Given the description of an element on the screen output the (x, y) to click on. 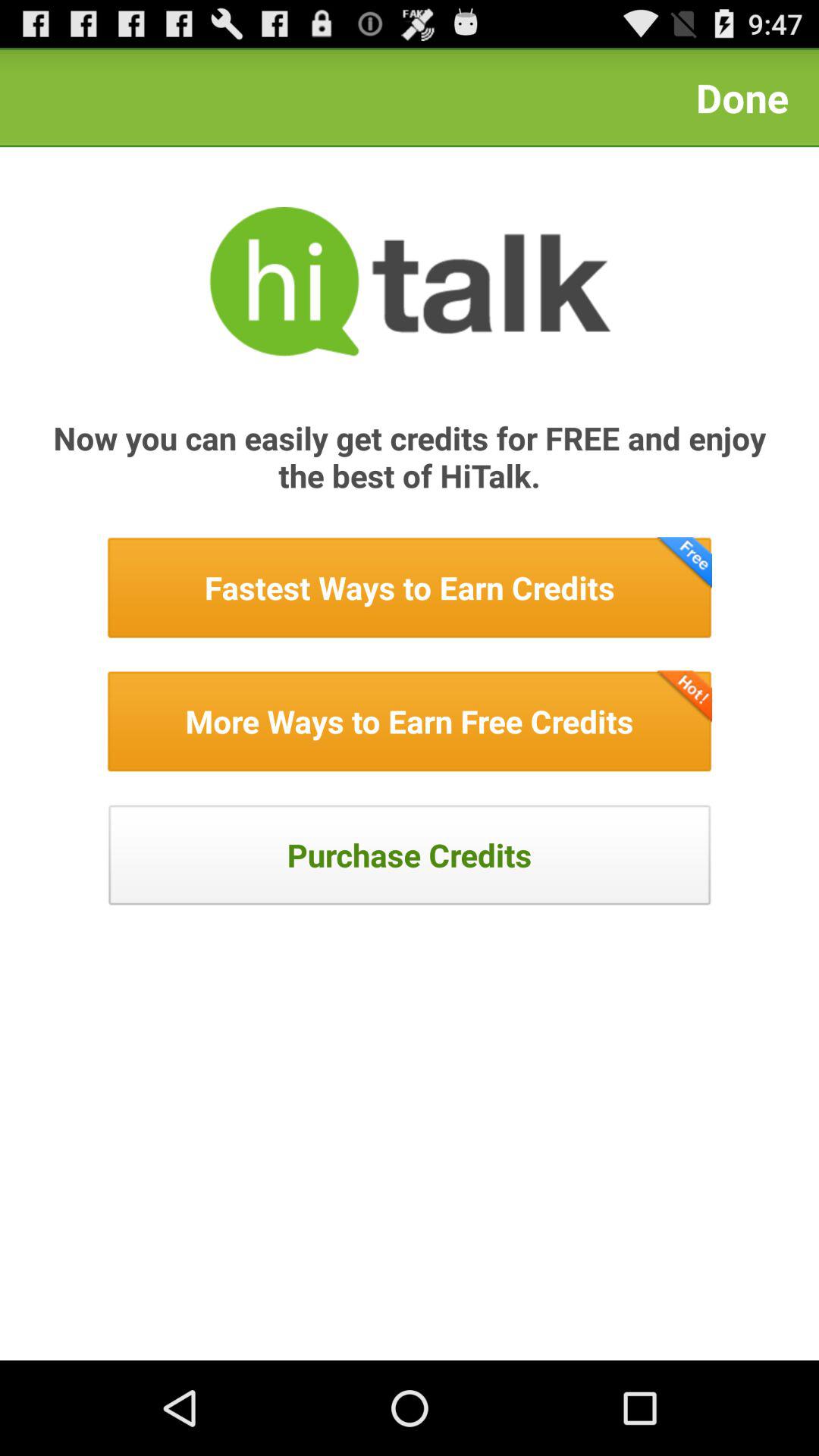
get free cedits (409, 721)
